Given the description of an element on the screen output the (x, y) to click on. 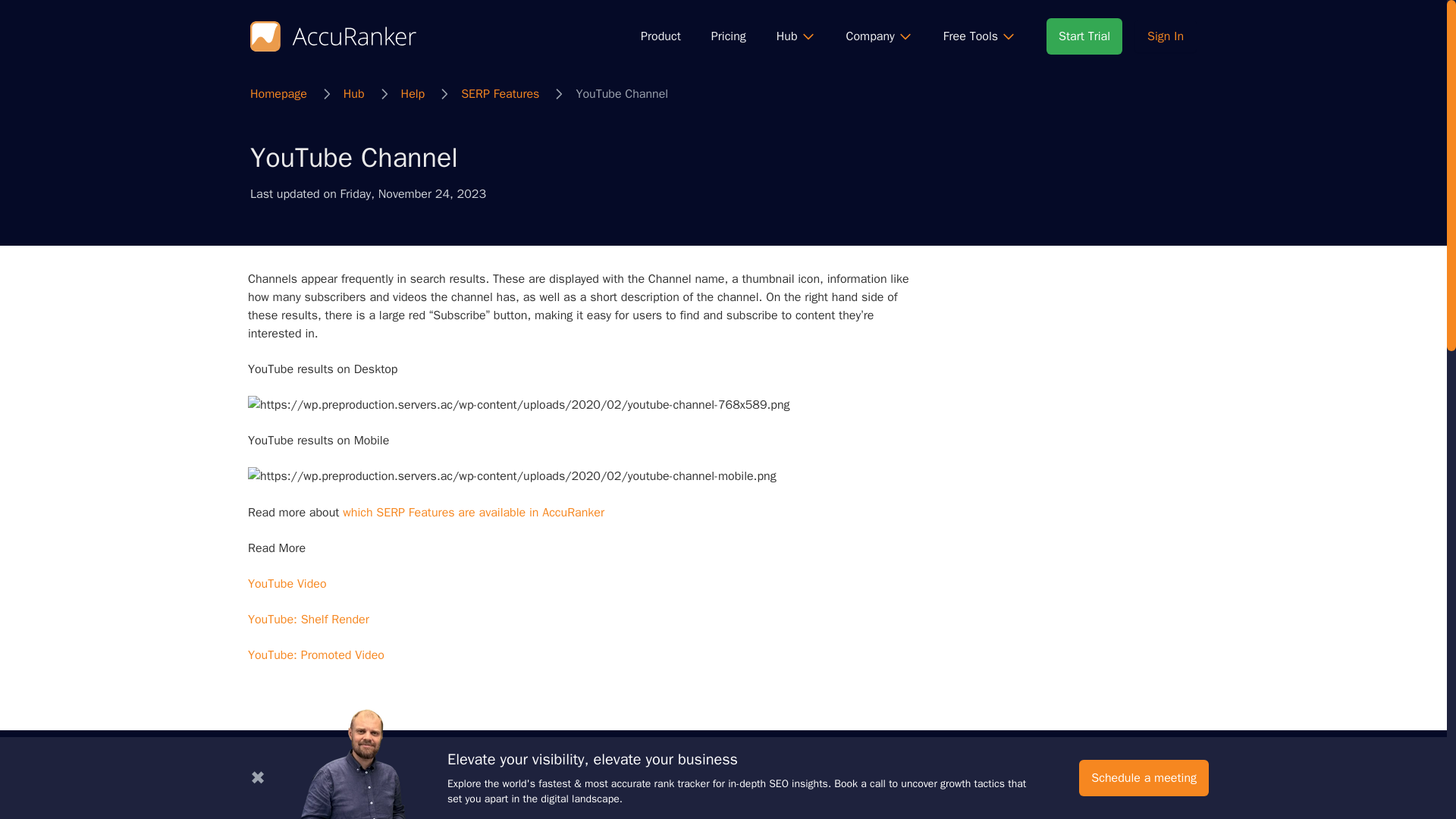
YouTube: Promoted Video (315, 654)
AccuRanker (281, 814)
YouTube Video (286, 583)
Help (413, 94)
Hub (795, 36)
Homepage (278, 93)
Hub (354, 94)
Support (659, 814)
Company (878, 36)
Sign In (1165, 36)
